Given the description of an element on the screen output the (x, y) to click on. 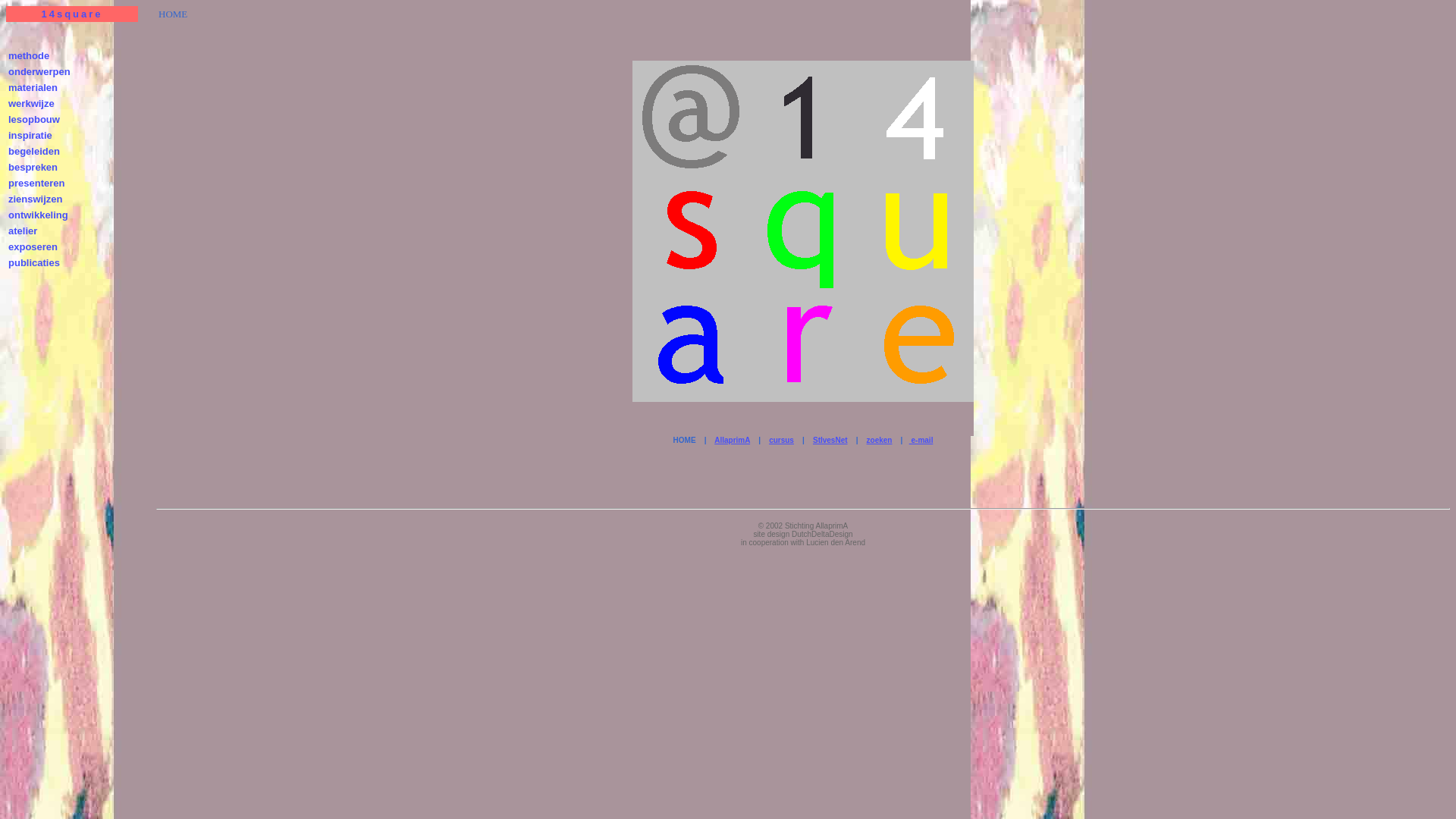
begeleiden Element type: text (33, 150)
publicaties Element type: text (33, 262)
Stichting AllaprimA Element type: text (815, 525)
materialen Element type: text (32, 87)
cursus Element type: text (780, 440)
lesopbouw Element type: text (33, 119)
DutchDeltaDesign Element type: text (822, 534)
atelier Element type: text (22, 230)
presenteren Element type: text (36, 182)
AllaprimA Element type: text (731, 440)
exposeren Element type: text (32, 246)
methode Element type: text (28, 55)
inspiratie Element type: text (30, 135)
e-mail Element type: text (921, 440)
14square Element type: text (71, 13)
zienswijzen Element type: text (35, 198)
Lucien den Arend Element type: text (835, 542)
onderwerpen Element type: text (39, 71)
ontwikkeling Element type: text (38, 214)
werkwijze Element type: text (31, 103)
zoeken Element type: text (879, 440)
bespreken Element type: text (32, 166)
StIvesNet Element type: text (829, 440)
